Given the description of an element on the screen output the (x, y) to click on. 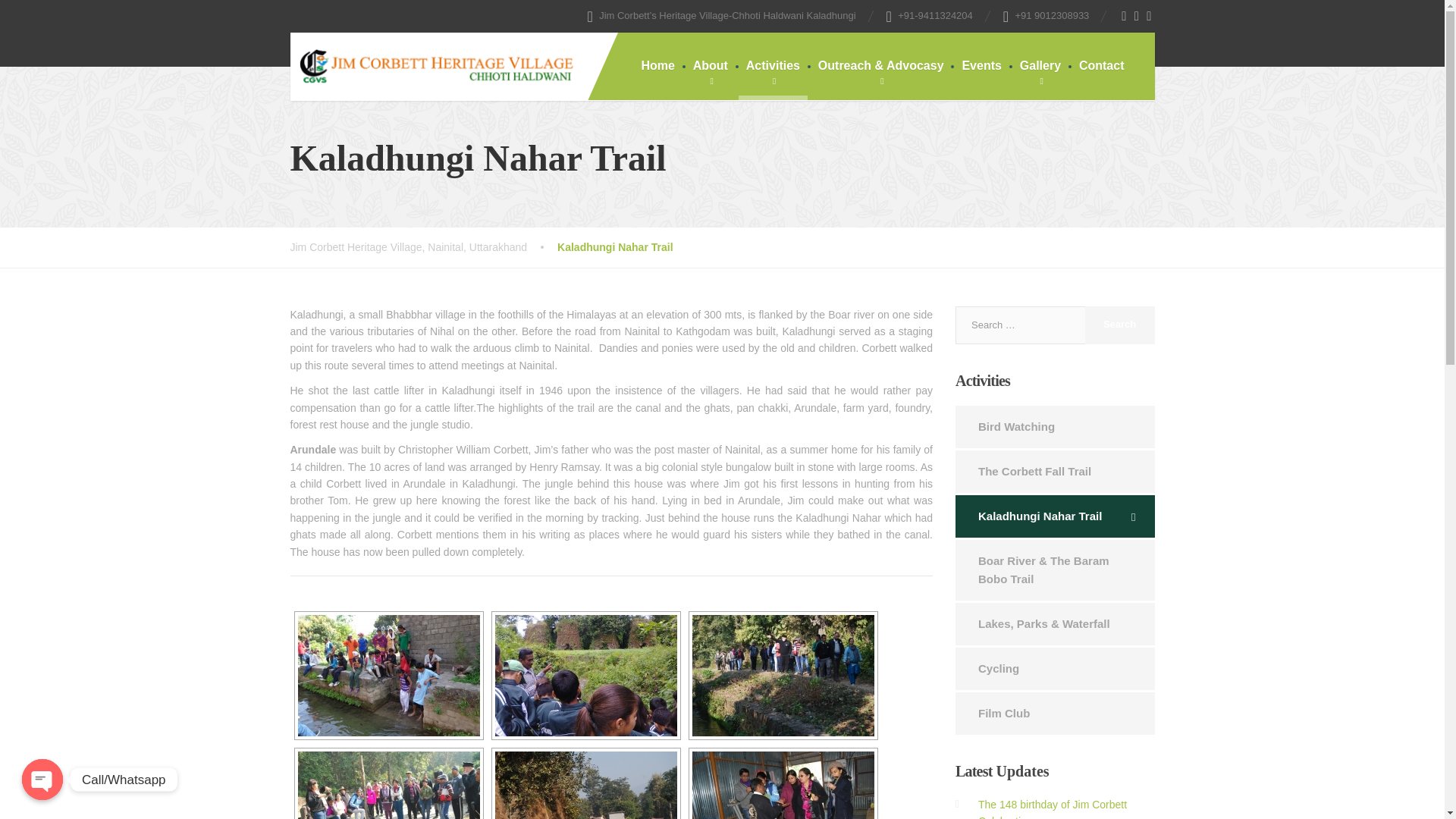
Jim Corbett Heritage Village, Nainital, Uttarakhand (423, 246)
Jim Corbett Heritage Village, Nainital, Uttarakhand (434, 59)
Search (1119, 324)
Activities (773, 65)
Contact (1101, 65)
Search (1119, 324)
Go to Jim Corbett Heritage Village, Nainital, Uttarakhand. (423, 246)
